Given the description of an element on the screen output the (x, y) to click on. 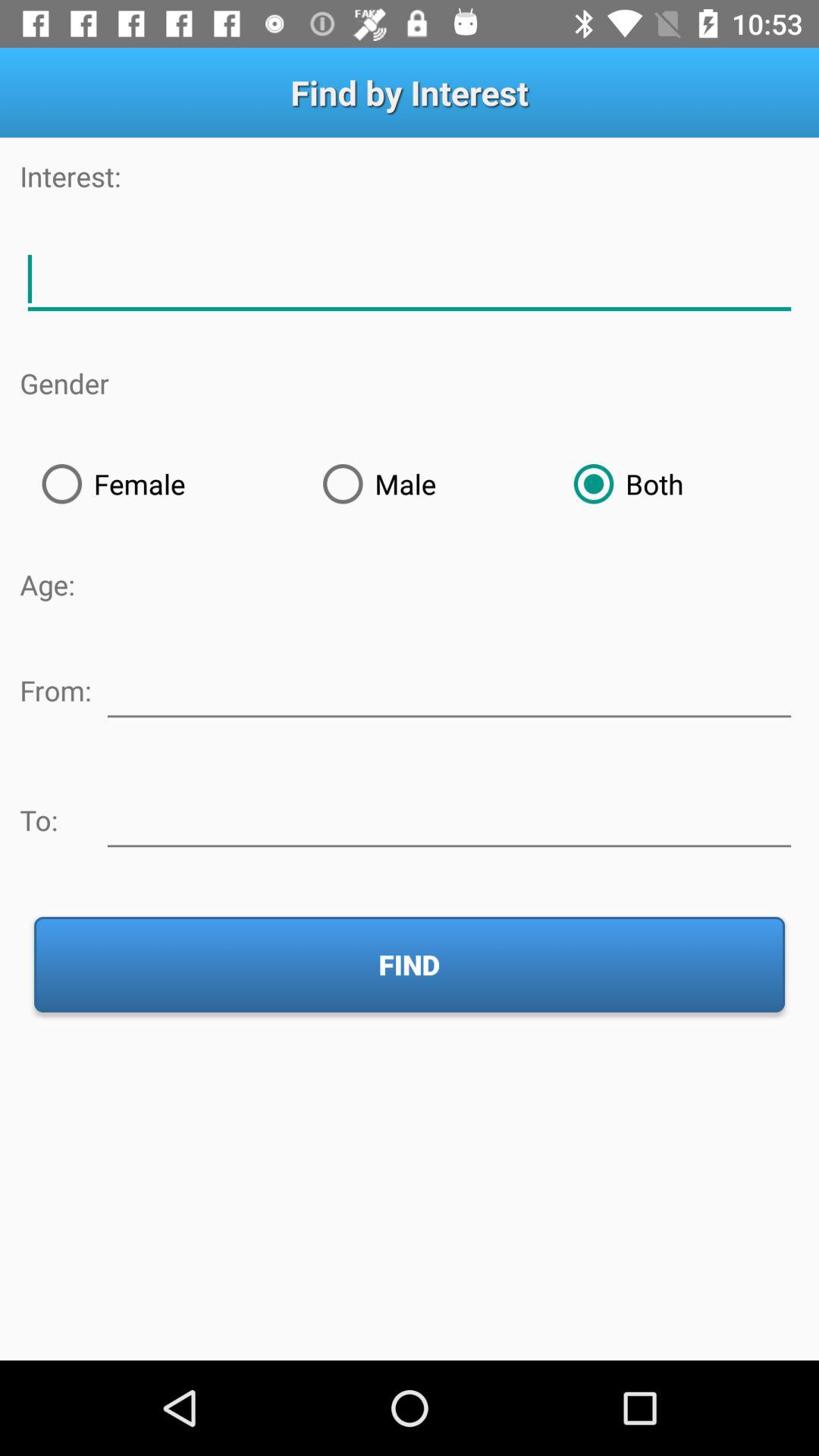
description of interest (409, 279)
